Given the description of an element on the screen output the (x, y) to click on. 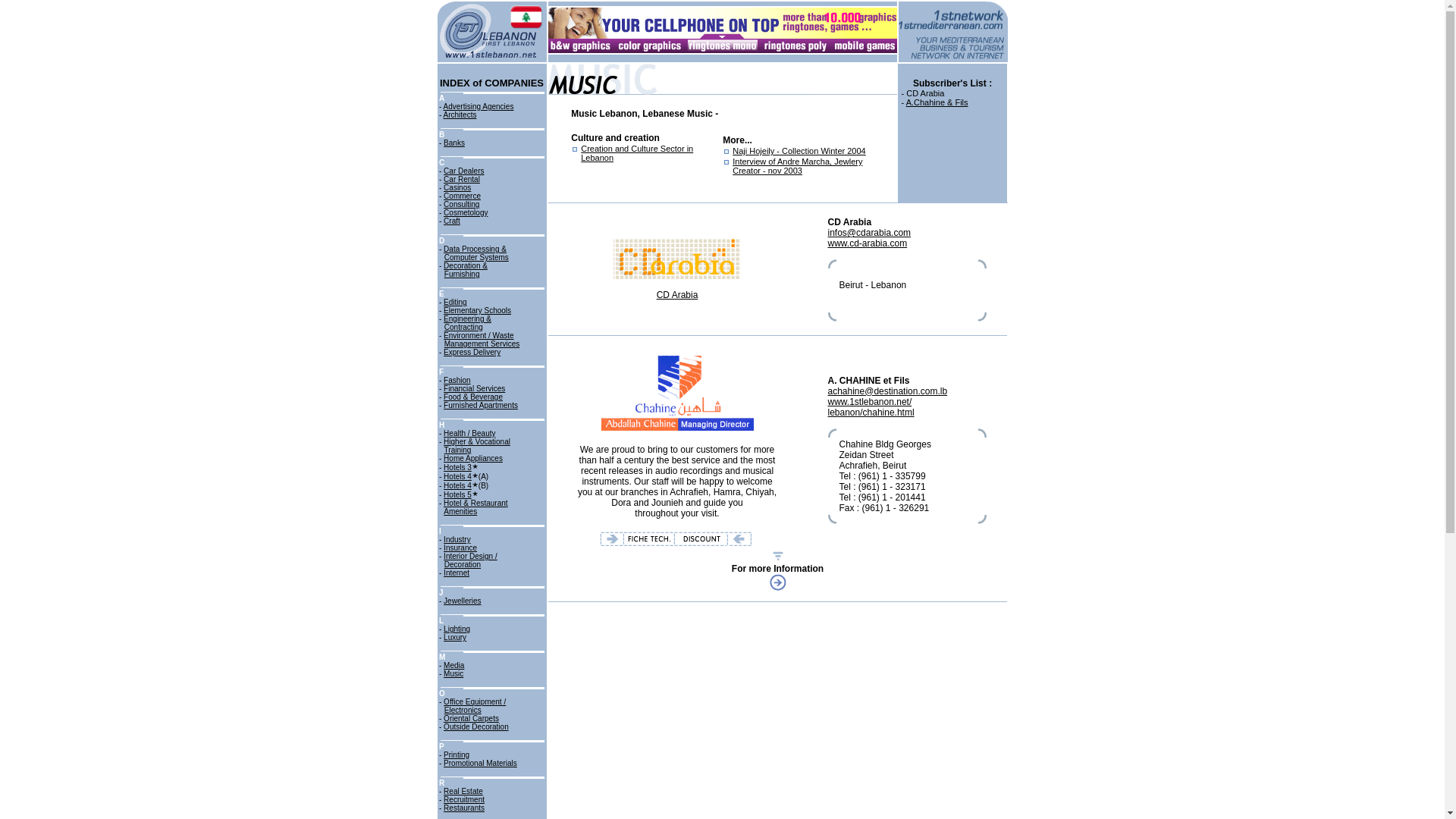
Car Rental (462, 179)
Architects (460, 114)
Management Services (481, 343)
Amenities (460, 510)
Consulting (461, 203)
Hotels 4 (457, 476)
Computer Systems (476, 257)
Furnished Apartments (481, 405)
Architects (460, 114)
Furnished Apartments (481, 405)
Casinos (457, 187)
Car Dealers (463, 171)
Editing (455, 302)
Car Dealers (463, 171)
Express Delivery (472, 352)
